Given the description of an element on the screen output the (x, y) to click on. 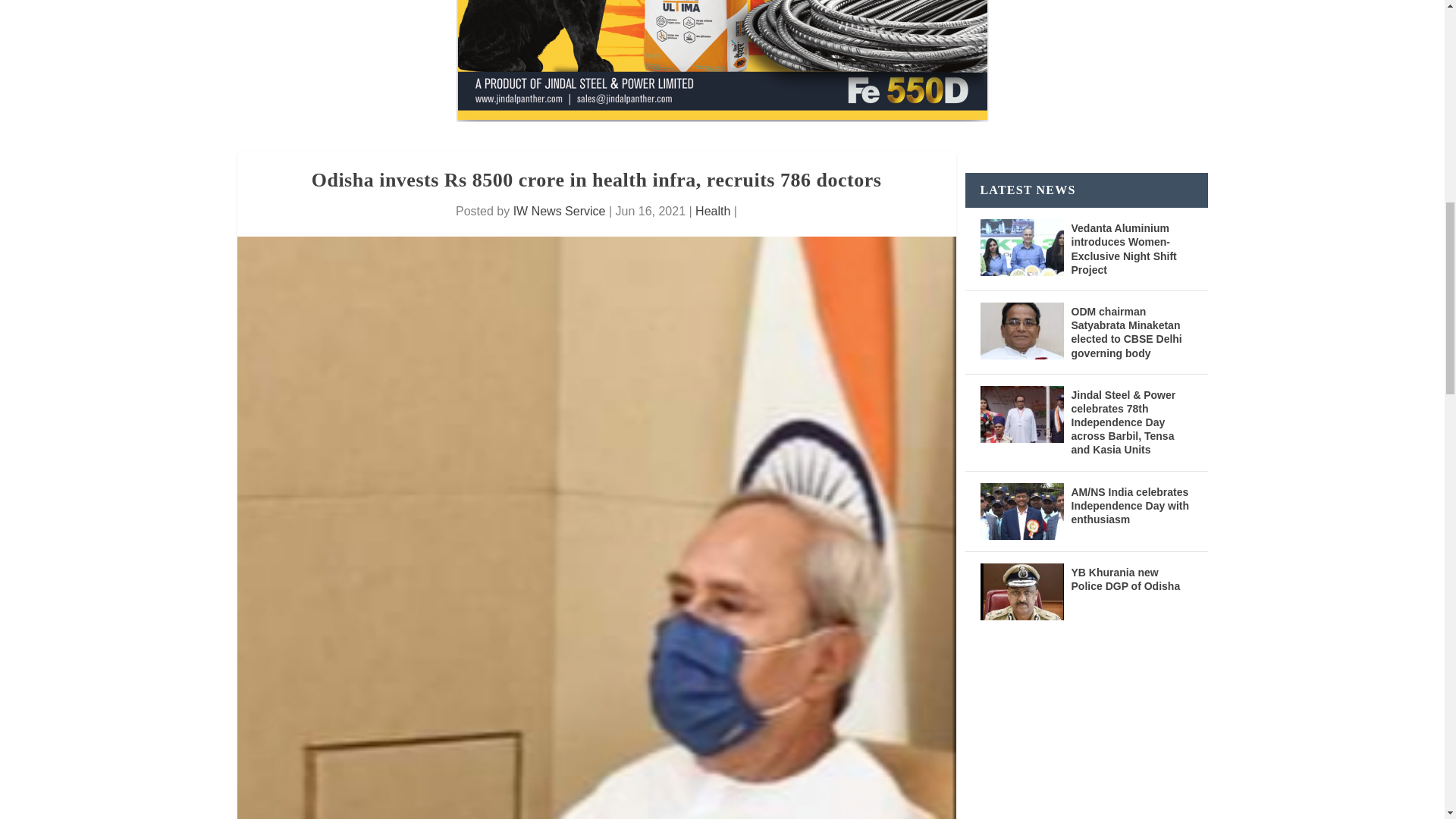
Posts by IW News Service (559, 210)
